Given the description of an element on the screen output the (x, y) to click on. 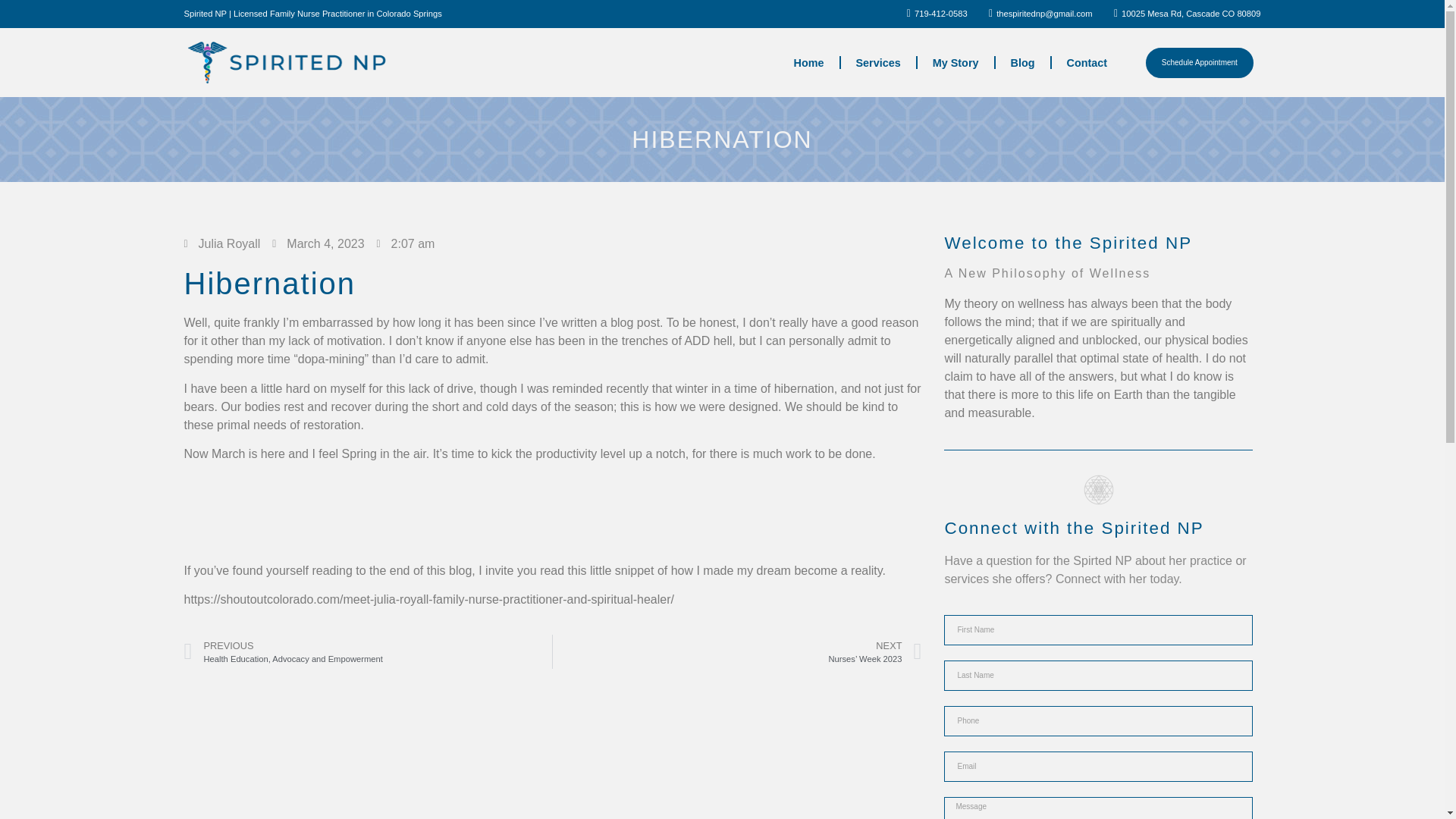
Home (809, 62)
March 4, 2023 (318, 244)
Schedule Appointment (1199, 62)
Contact (367, 651)
My Story (1086, 62)
Blog (955, 62)
Services (1022, 62)
Icon-06 (878, 62)
719-412-0583 (1098, 490)
